Given the description of an element on the screen output the (x, y) to click on. 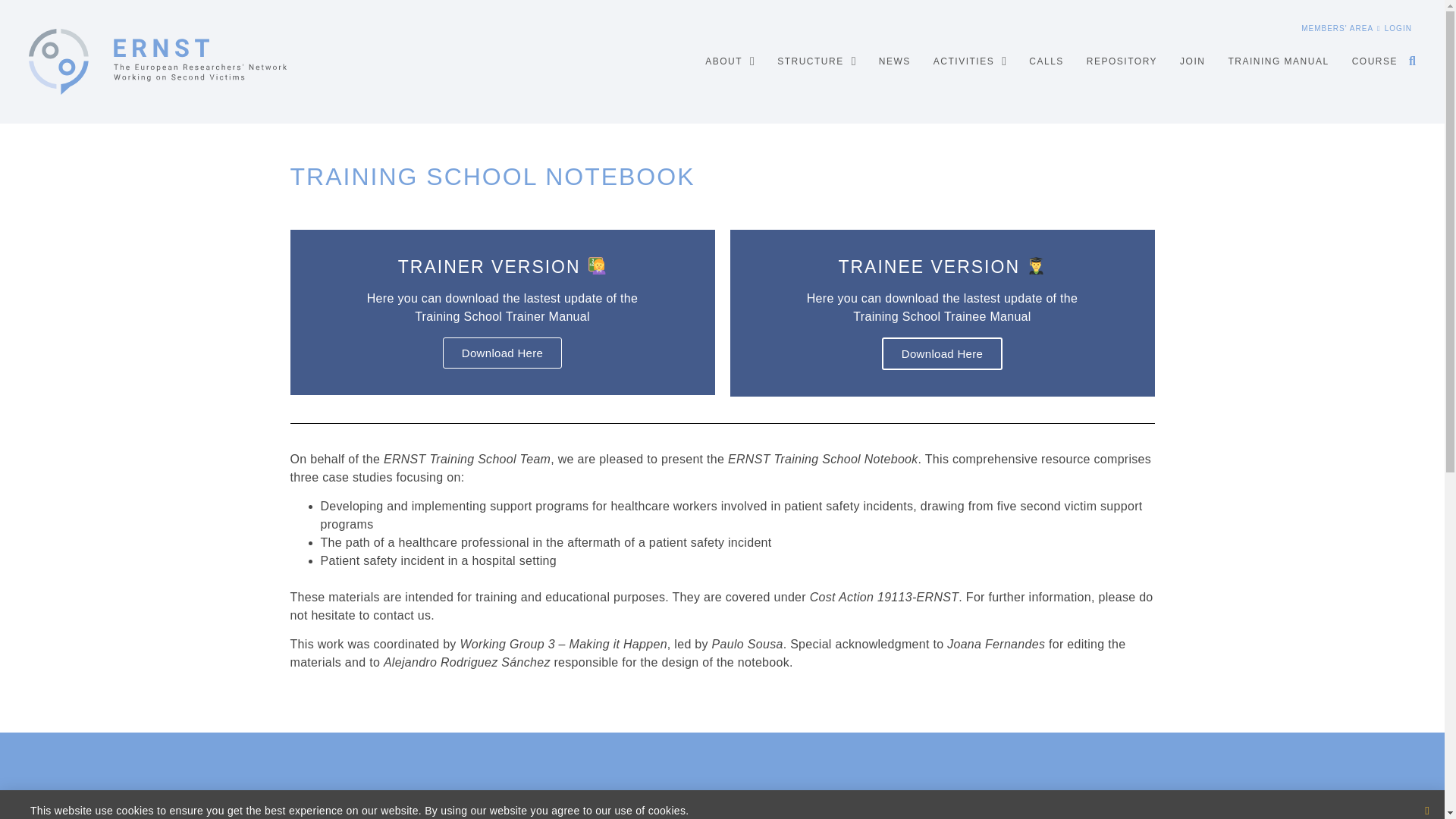
STRUCTURE (816, 61)
ABOUT (729, 61)
CALLS (1046, 61)
REPOSITORY (1122, 61)
JOIN (1192, 61)
NEWS (894, 61)
LOGIN (1394, 28)
ACTIVITIES (969, 61)
COURSE (1374, 61)
MEMBERS' AREA (1337, 28)
